Given the description of an element on the screen output the (x, y) to click on. 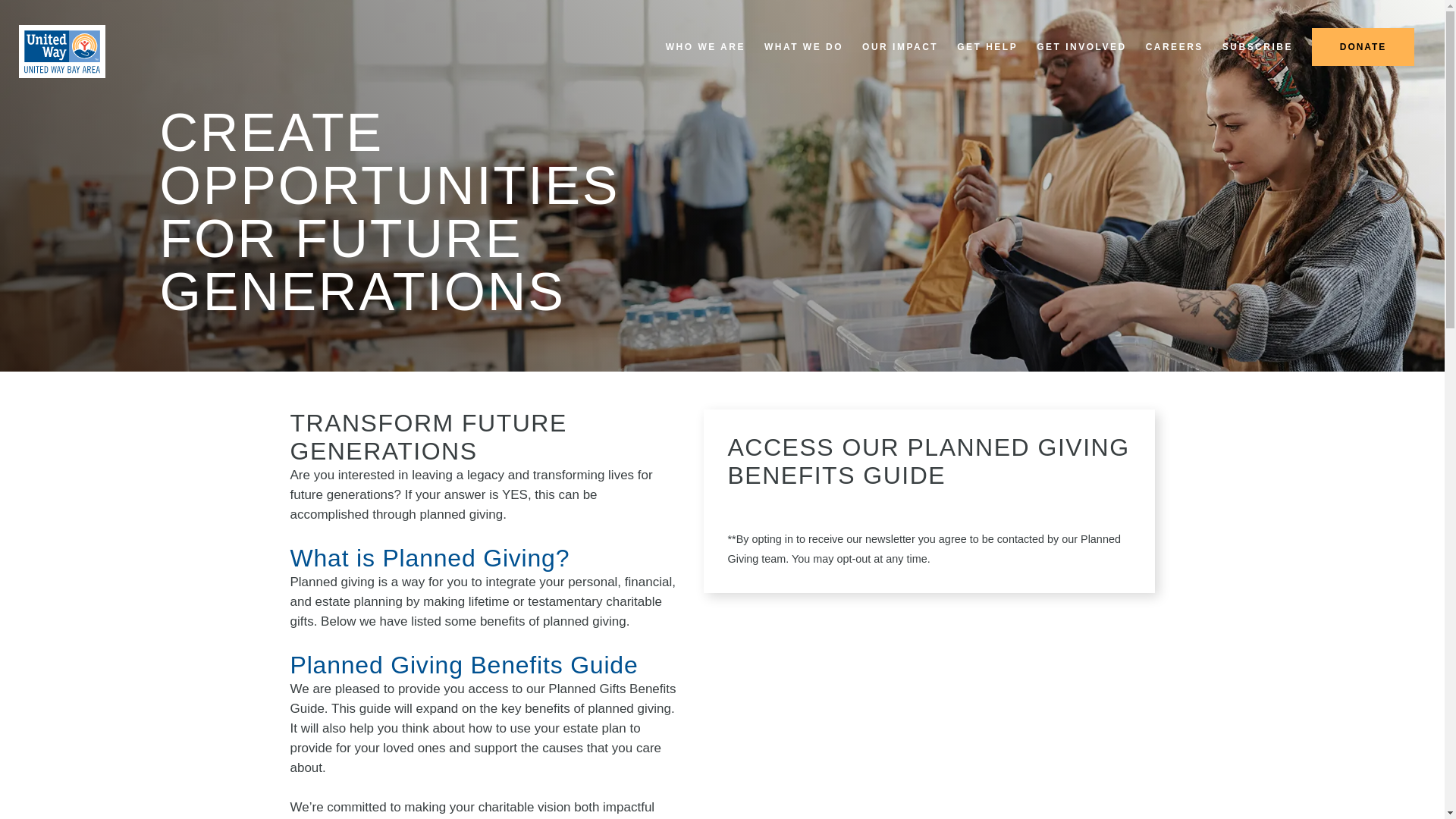
WHO WE ARE (705, 46)
GET INVOLVED (1080, 46)
GET HELP (986, 46)
united way of bay area (61, 51)
WHAT WE DO (803, 46)
OUR IMPACT (899, 46)
